Given the description of an element on the screen output the (x, y) to click on. 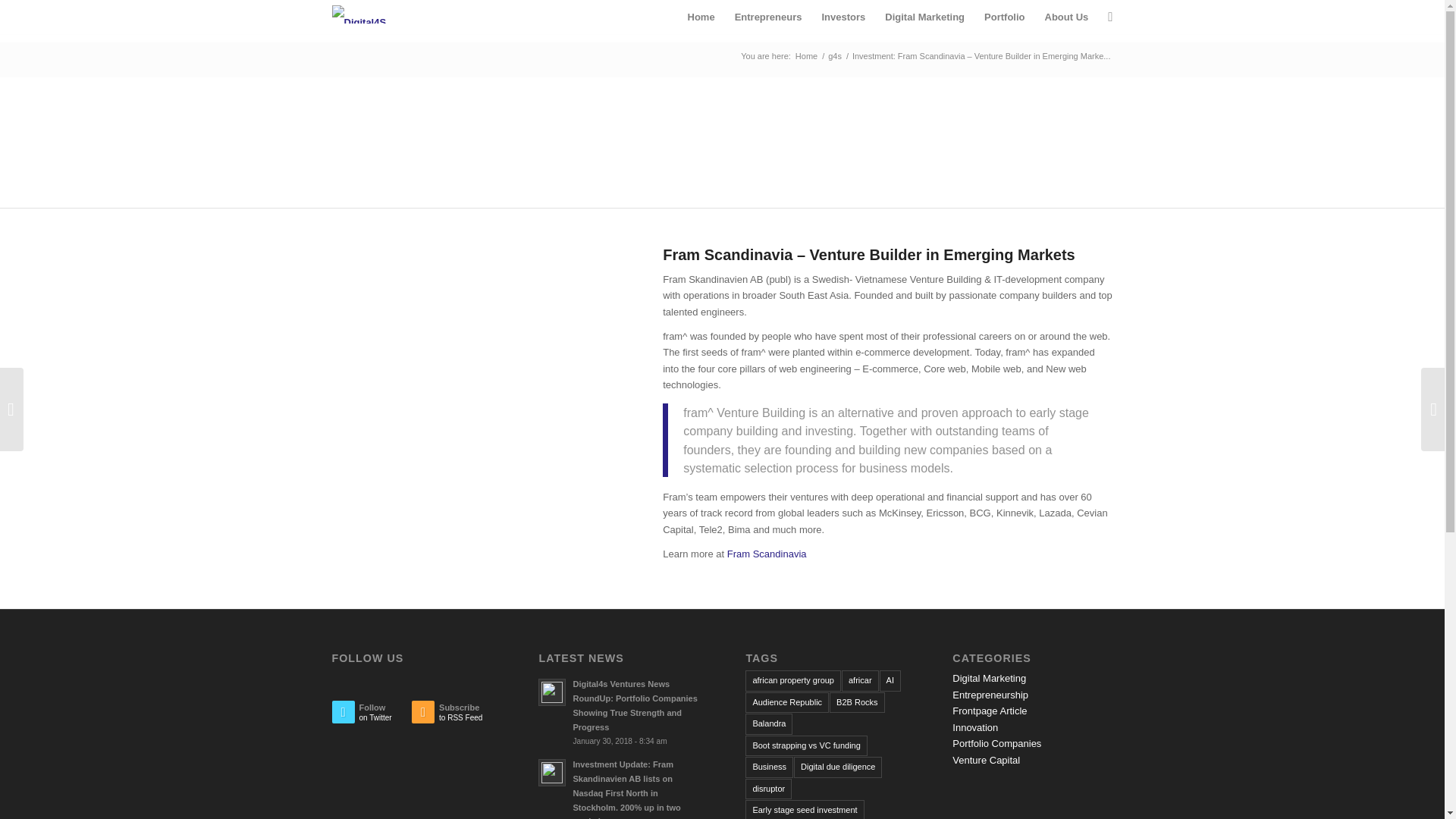
Business (769, 766)
About Us (1065, 17)
african property group (793, 680)
Home (806, 56)
Portfolio (1003, 17)
Investors (452, 716)
Audience Republic (842, 17)
Home (786, 702)
B2B Rocks (701, 17)
Fram Scandinavia (856, 702)
Portfolio (766, 553)
Entrepreneurs (1003, 17)
Early stage seed investment (768, 17)
Investors (804, 809)
